Given the description of an element on the screen output the (x, y) to click on. 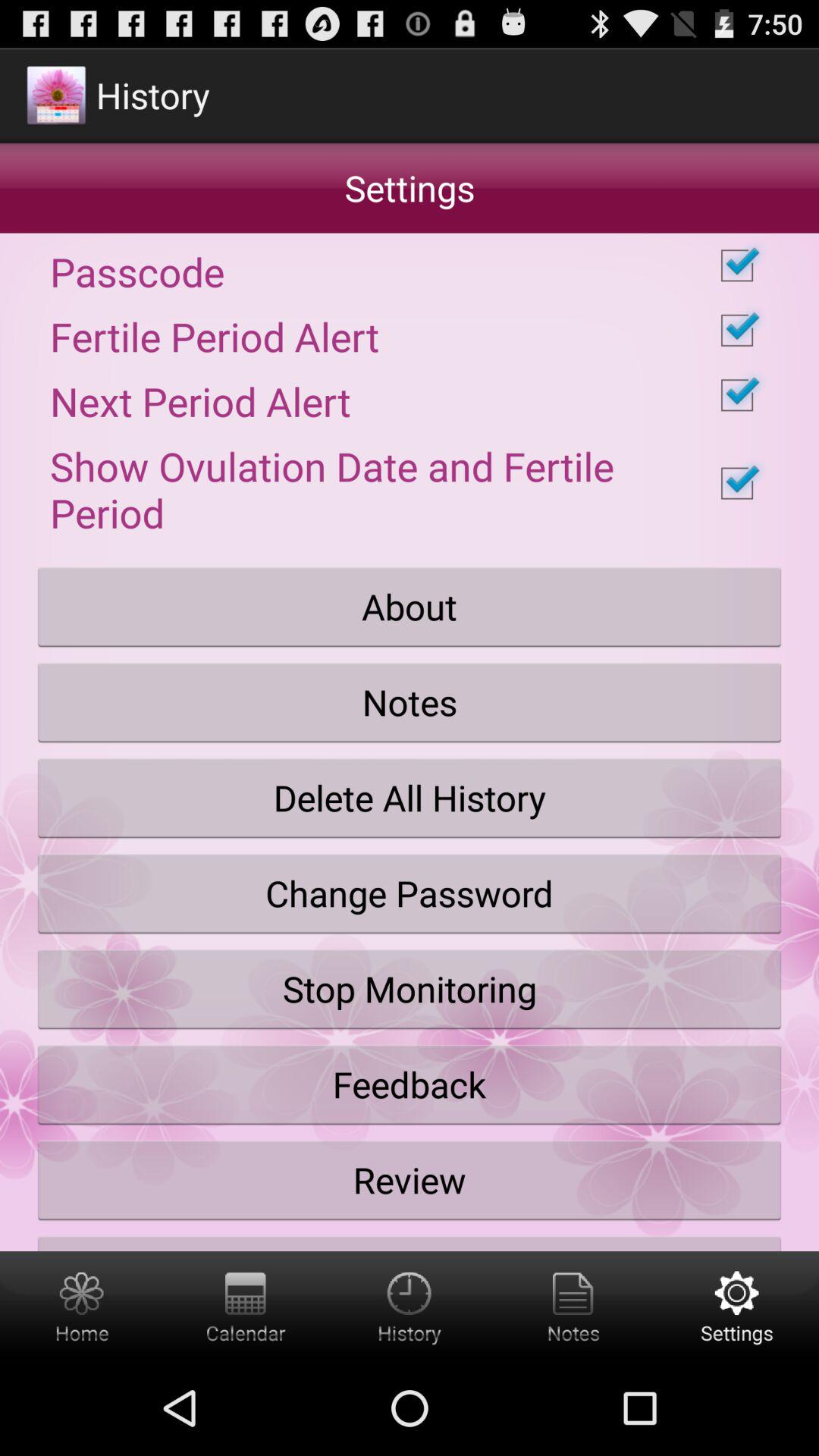
calendar (245, 1305)
